Given the description of an element on the screen output the (x, y) to click on. 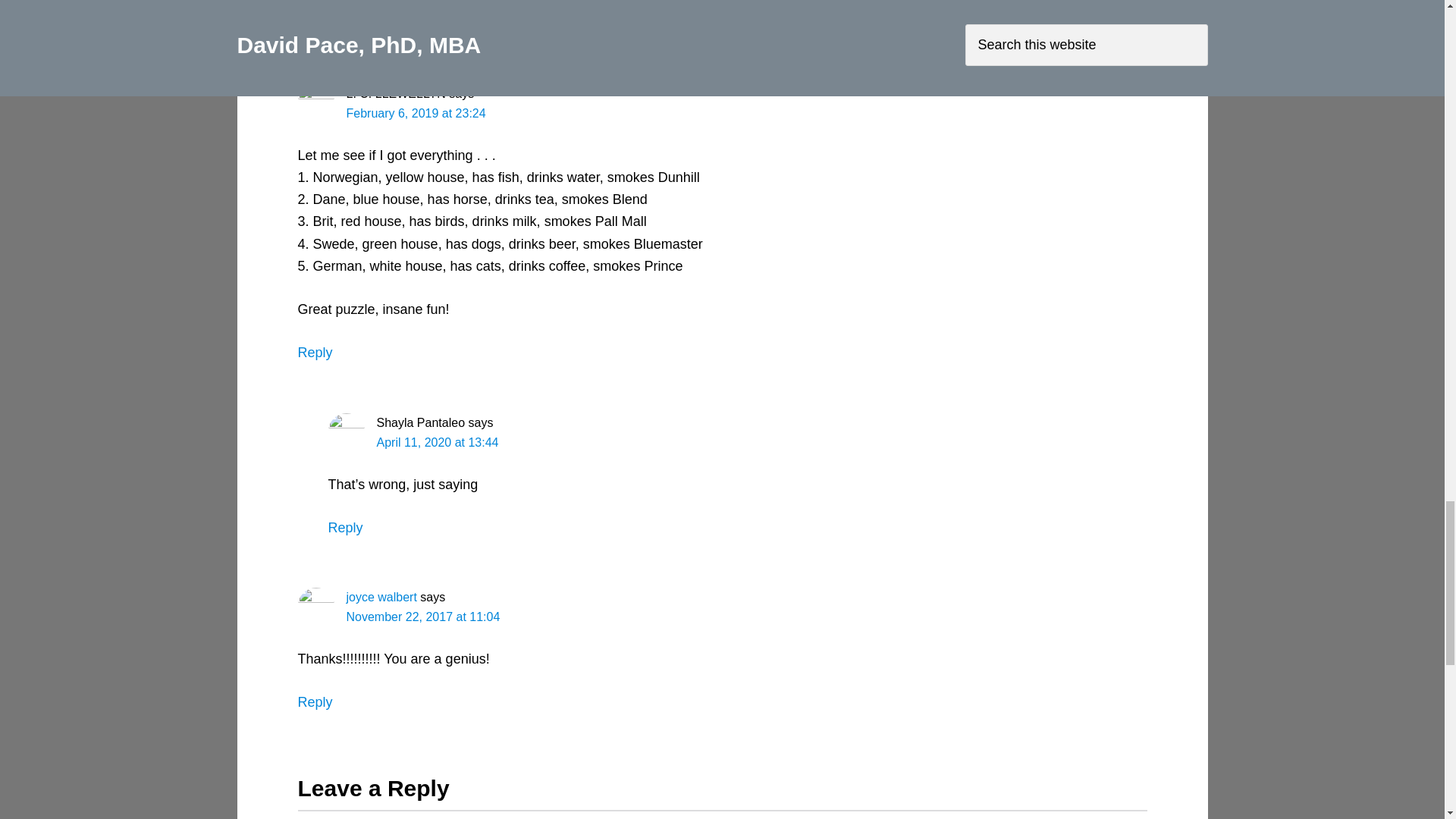
February 6, 2019 at 23:24 (415, 113)
Reply (314, 23)
